Given the description of an element on the screen output the (x, y) to click on. 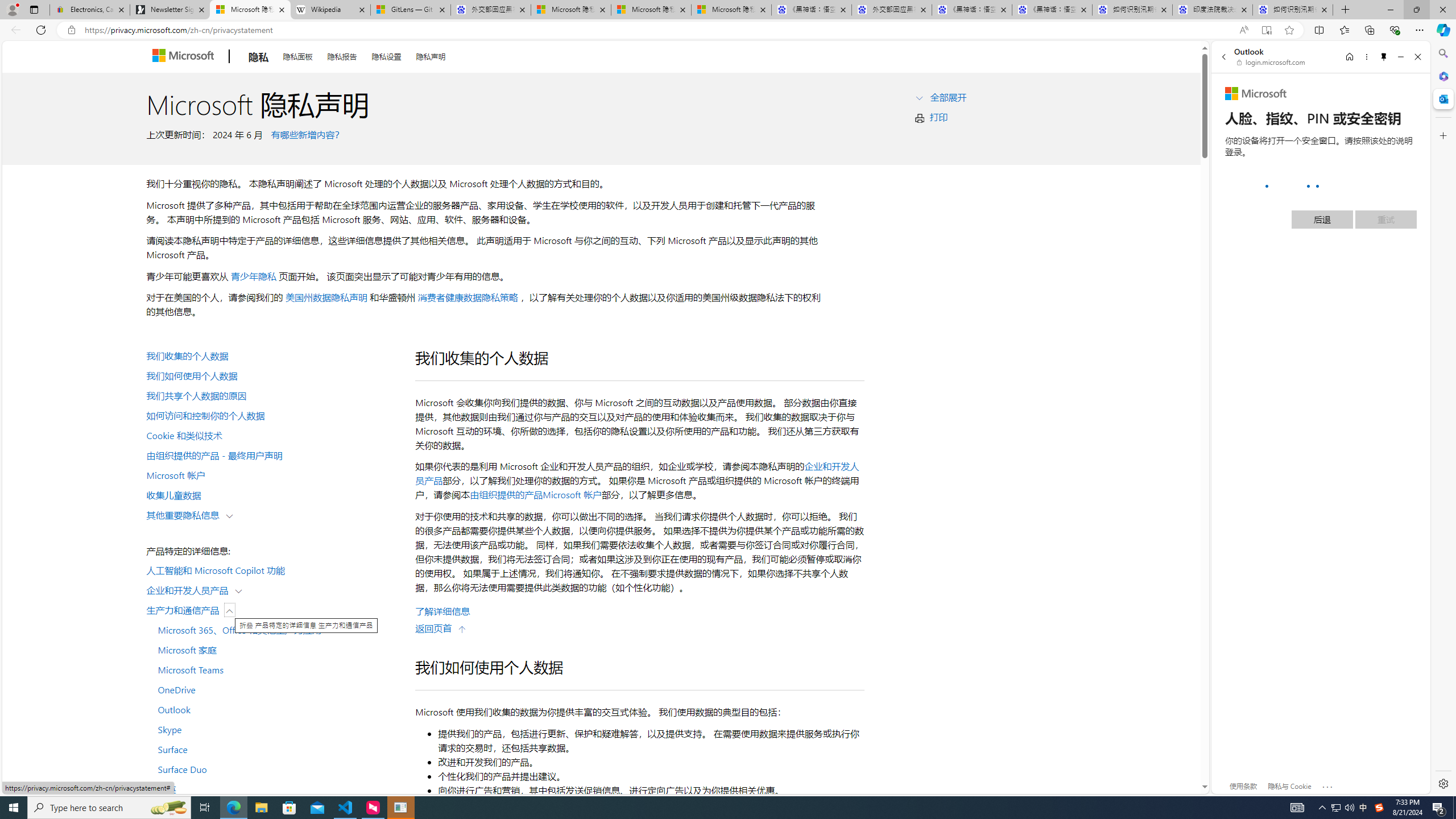
Newsletter Sign Up (170, 9)
Microsoft Teams (274, 668)
